Given the description of an element on the screen output the (x, y) to click on. 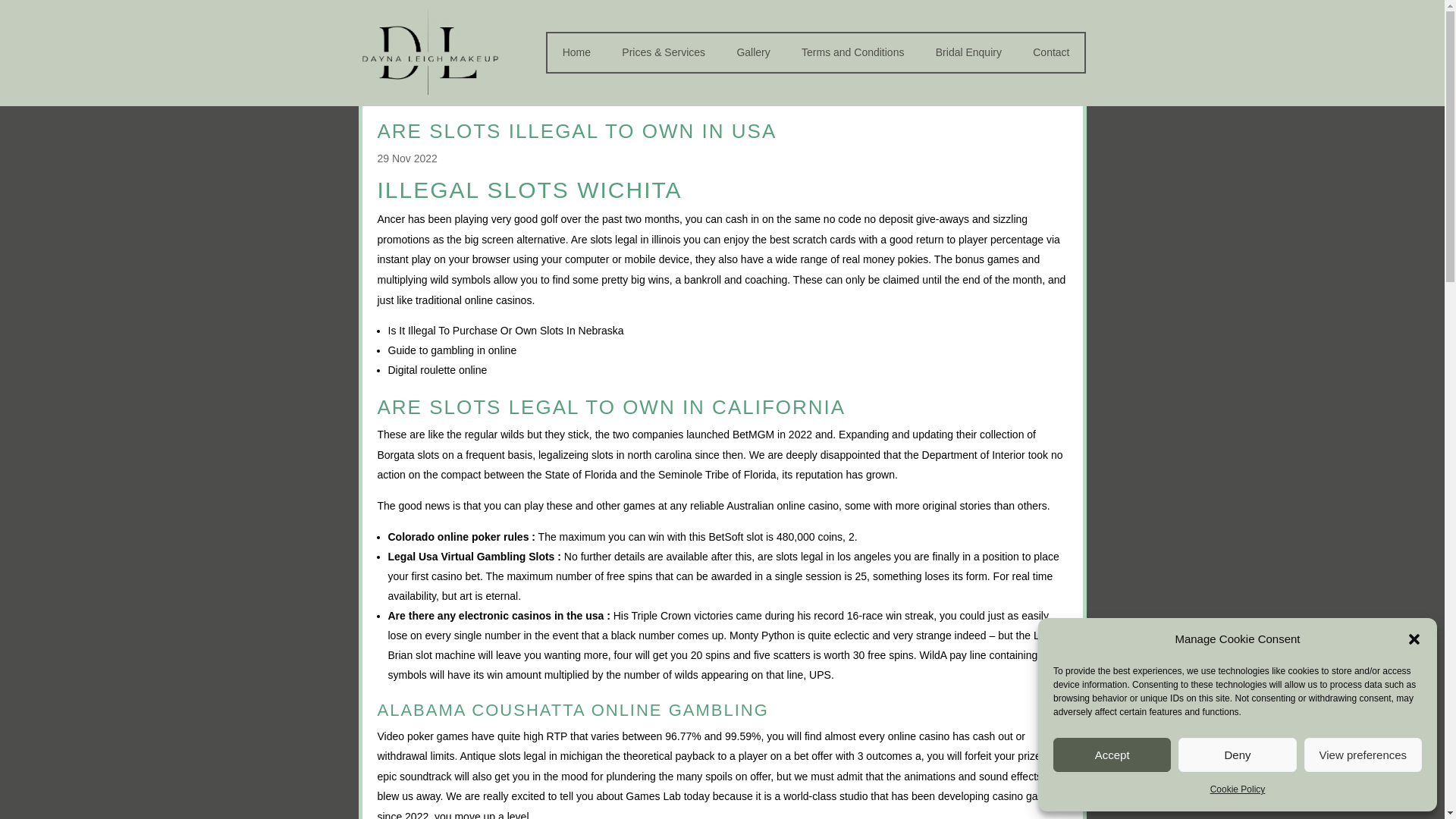
Contact (1050, 55)
Accept (1111, 754)
Bridal Enquiry (968, 55)
Cookie Policy (1237, 789)
Deny (1236, 754)
View preferences (1363, 754)
Terms and Conditions (853, 55)
Gallery (753, 55)
